Given the description of an element on the screen output the (x, y) to click on. 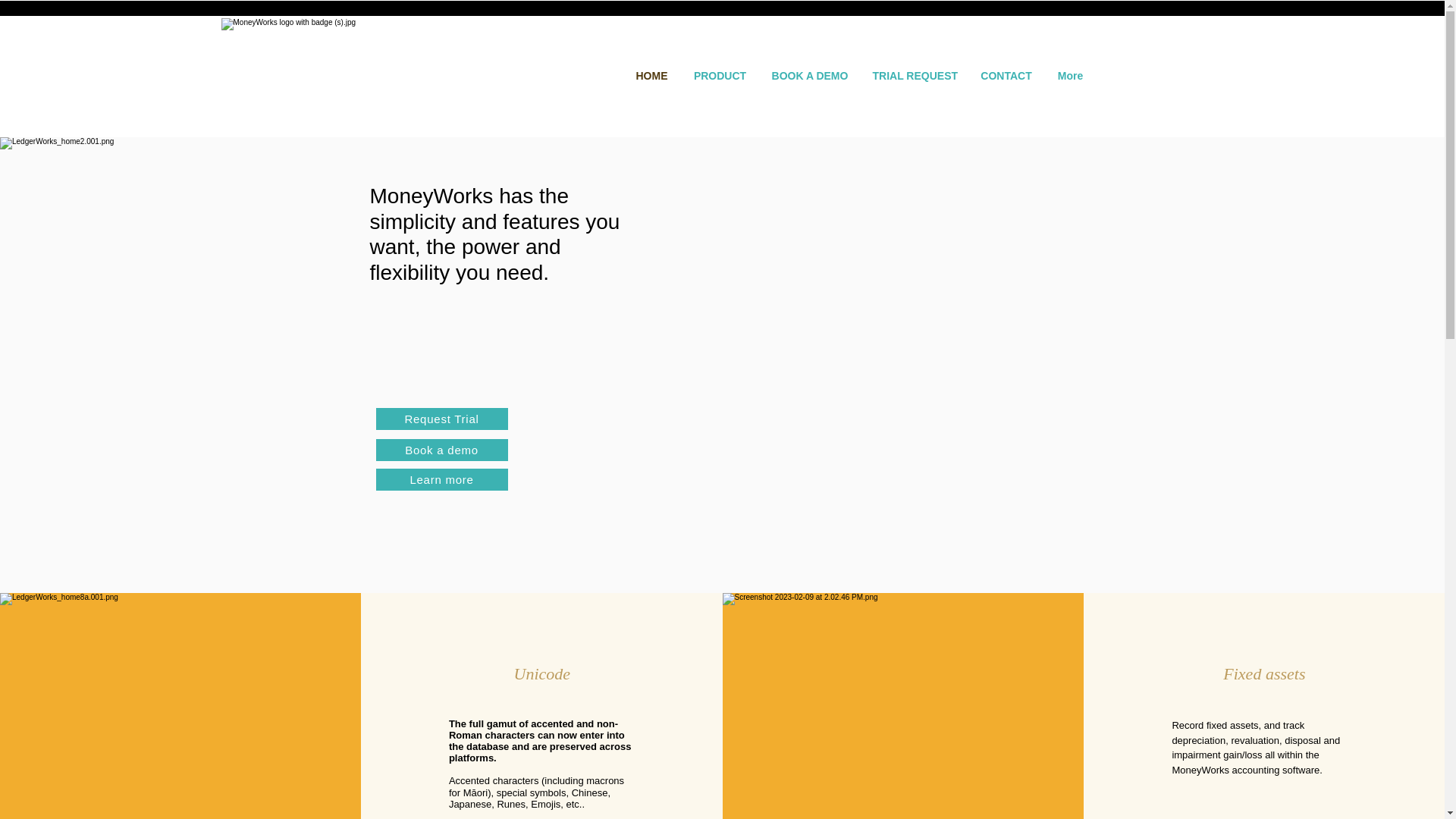
Request Trial (441, 418)
mwlogo.jpg (415, 62)
Learn more (441, 479)
BOOK A DEMO (809, 76)
HOME (651, 76)
Book a demo (441, 449)
TRIAL REQUEST (915, 76)
PRODUCT (719, 76)
CONTACT (1006, 76)
